Given the description of an element on the screen output the (x, y) to click on. 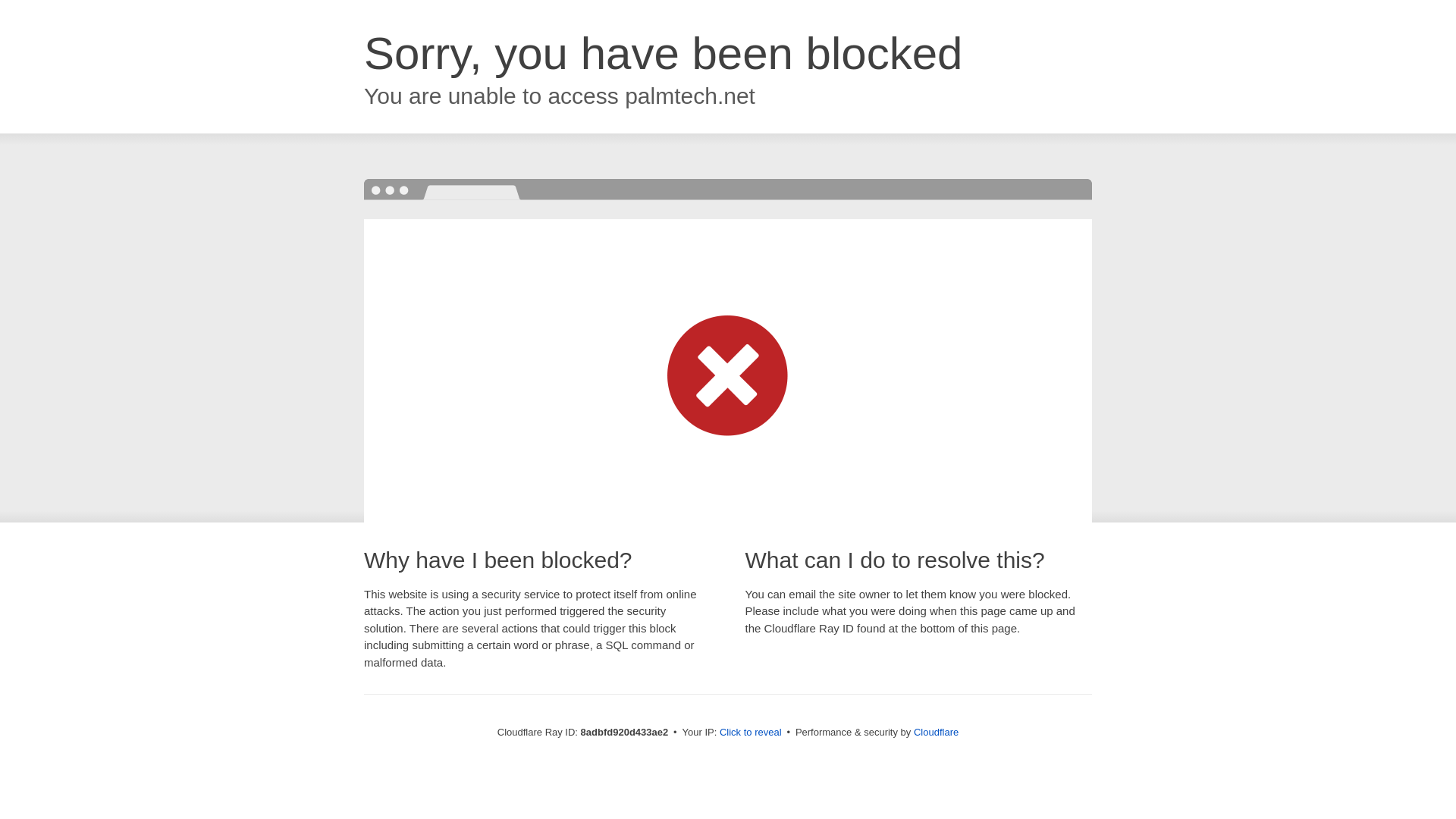
Cloudflare (936, 731)
Click to reveal (750, 732)
